Given the description of an element on the screen output the (x, y) to click on. 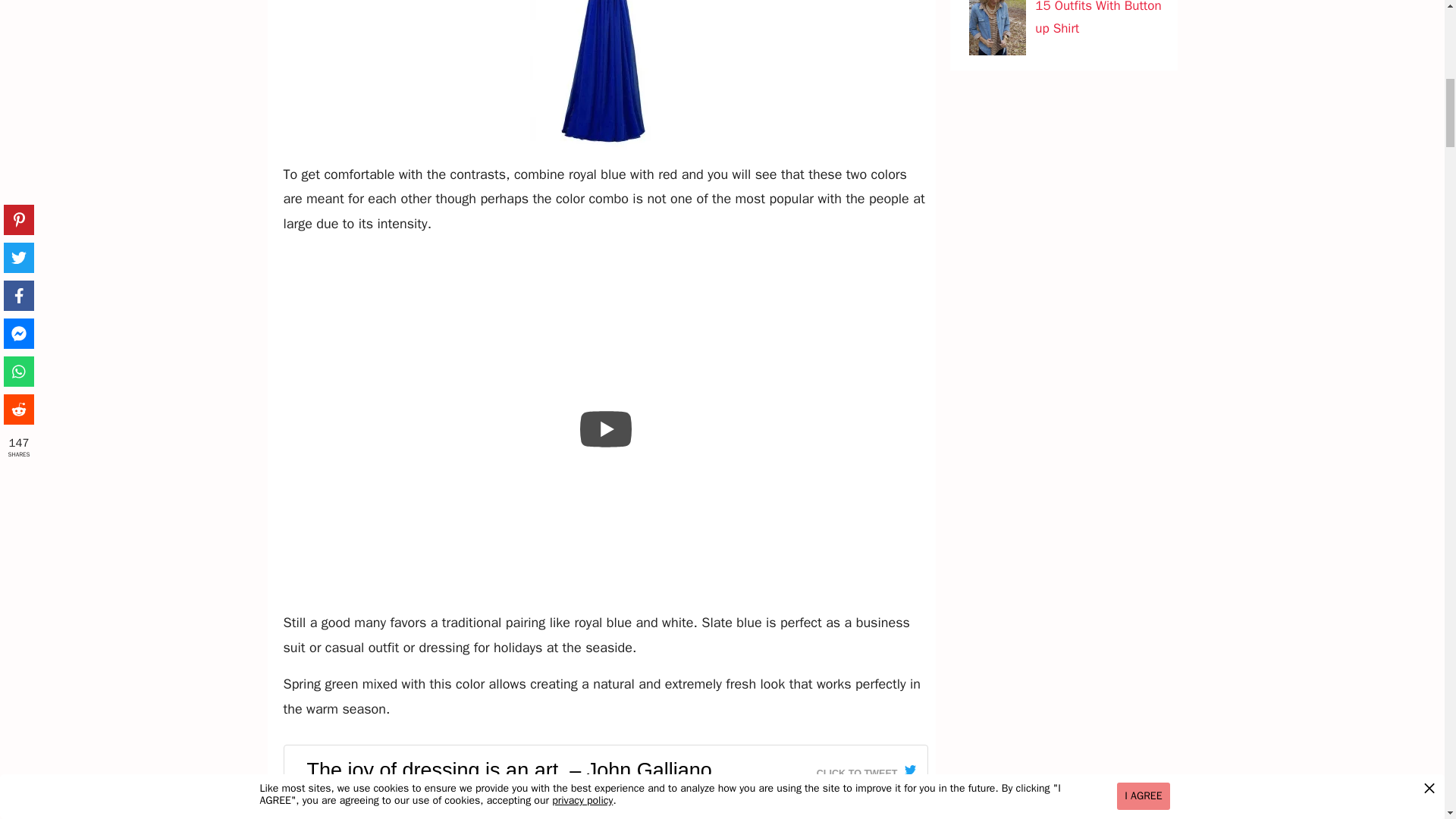
what colors go with Royal Blue photo (604, 815)
colors go with royal blue photo (605, 74)
CLICK TO TWEET (865, 769)
